Given the description of an element on the screen output the (x, y) to click on. 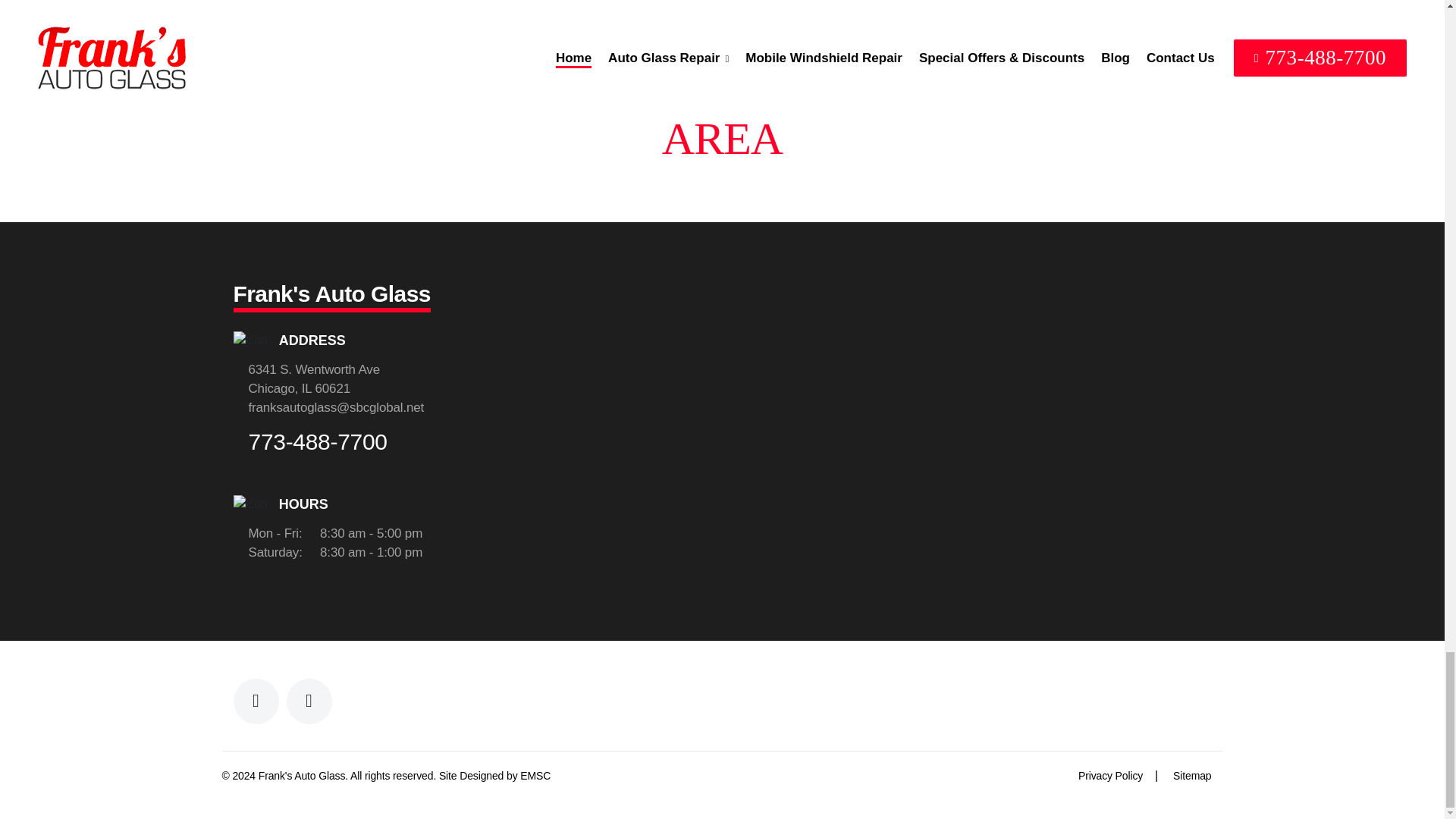
Privacy Policy (1110, 775)
Sitemap (1192, 775)
Facebook (255, 700)
Facebook (255, 700)
Google (308, 700)
EMSC (534, 775)
Google (308, 700)
Privacy Policy (1110, 775)
Contact Us (534, 775)
Sitemap (1192, 775)
773-488-7700 (317, 442)
